Given the description of an element on the screen output the (x, y) to click on. 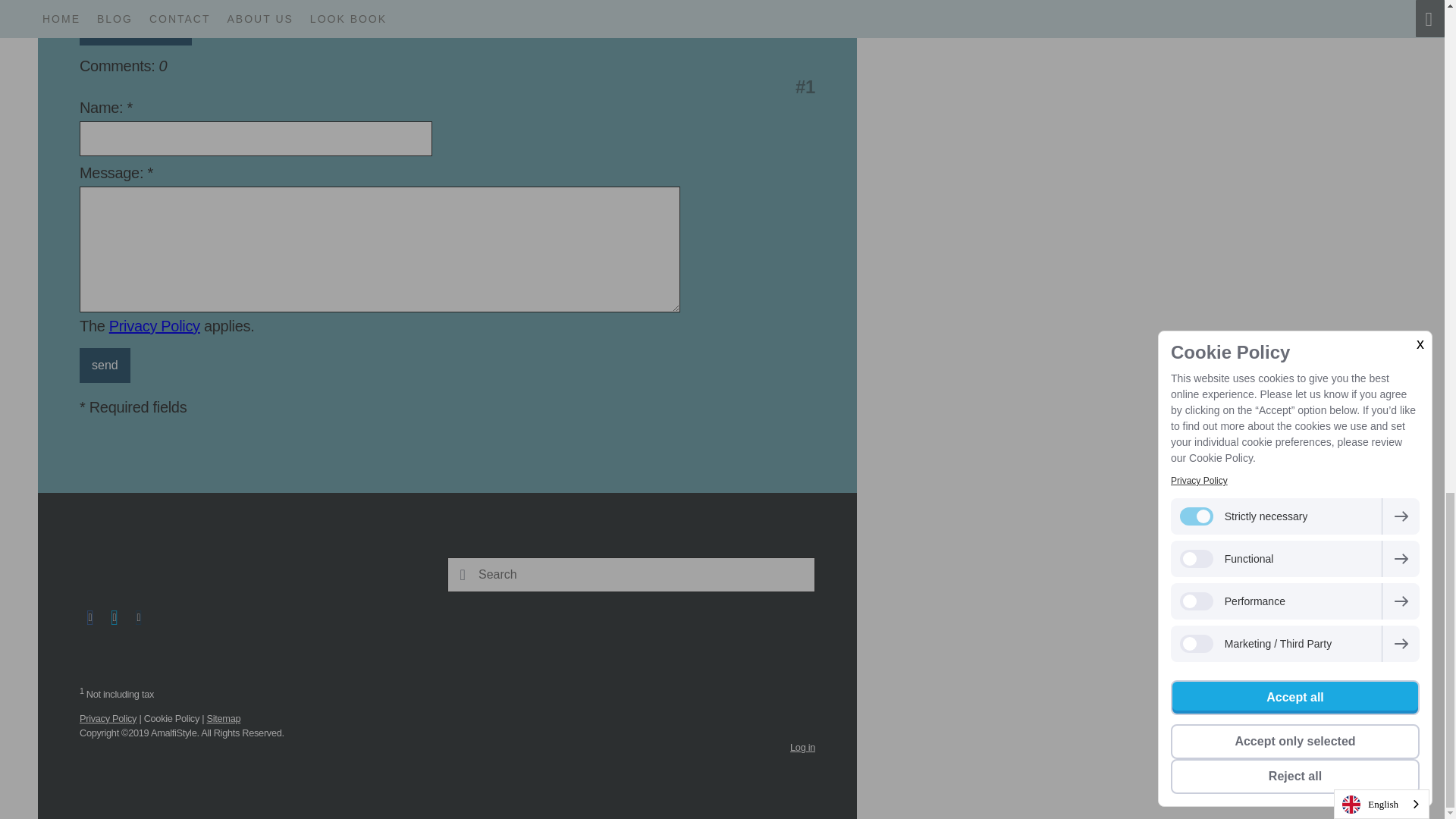
Facebook (90, 617)
Write a comment (136, 27)
Privacy Policy (154, 325)
send (105, 365)
Sitemap (223, 717)
Log in (802, 747)
Twitter (114, 617)
Cookie Policy (171, 717)
Privacy Policy (108, 717)
send (105, 365)
Email (138, 617)
